Given the description of an element on the screen output the (x, y) to click on. 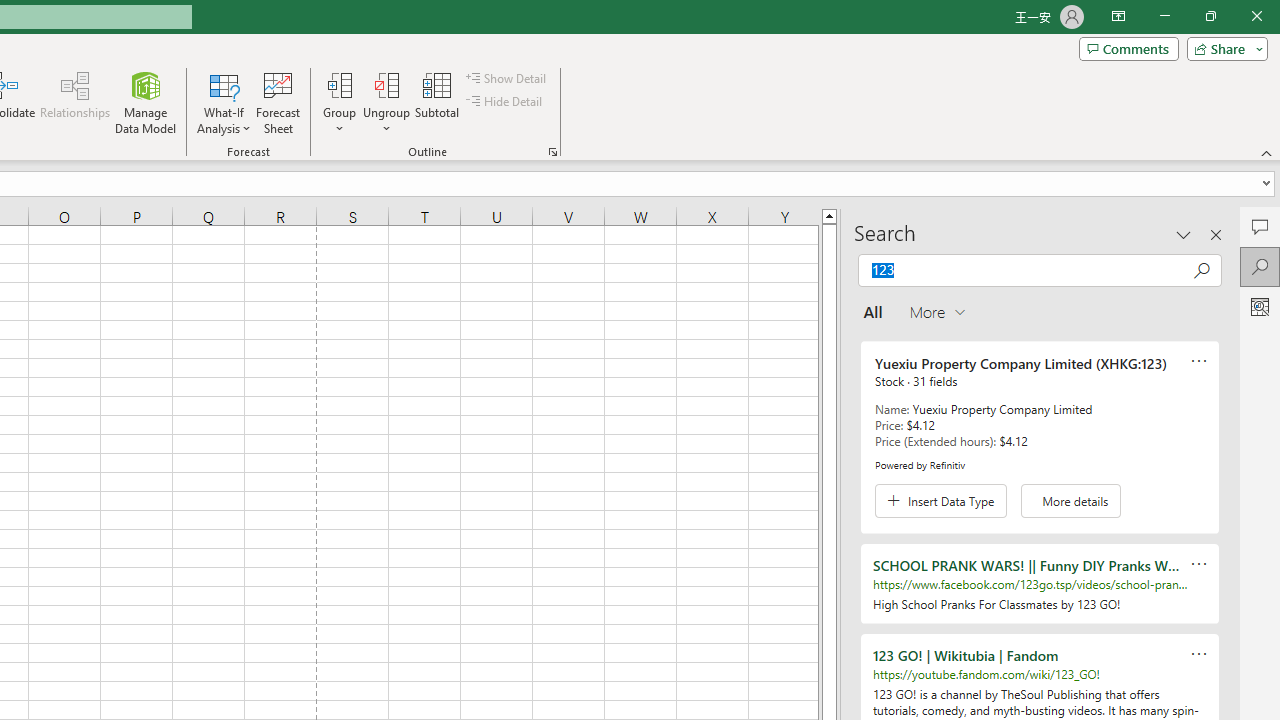
Hide Detail (505, 101)
Forecast Sheet (278, 102)
Group and Outline Settings (552, 151)
Subtotal (437, 102)
